Given the description of an element on the screen output the (x, y) to click on. 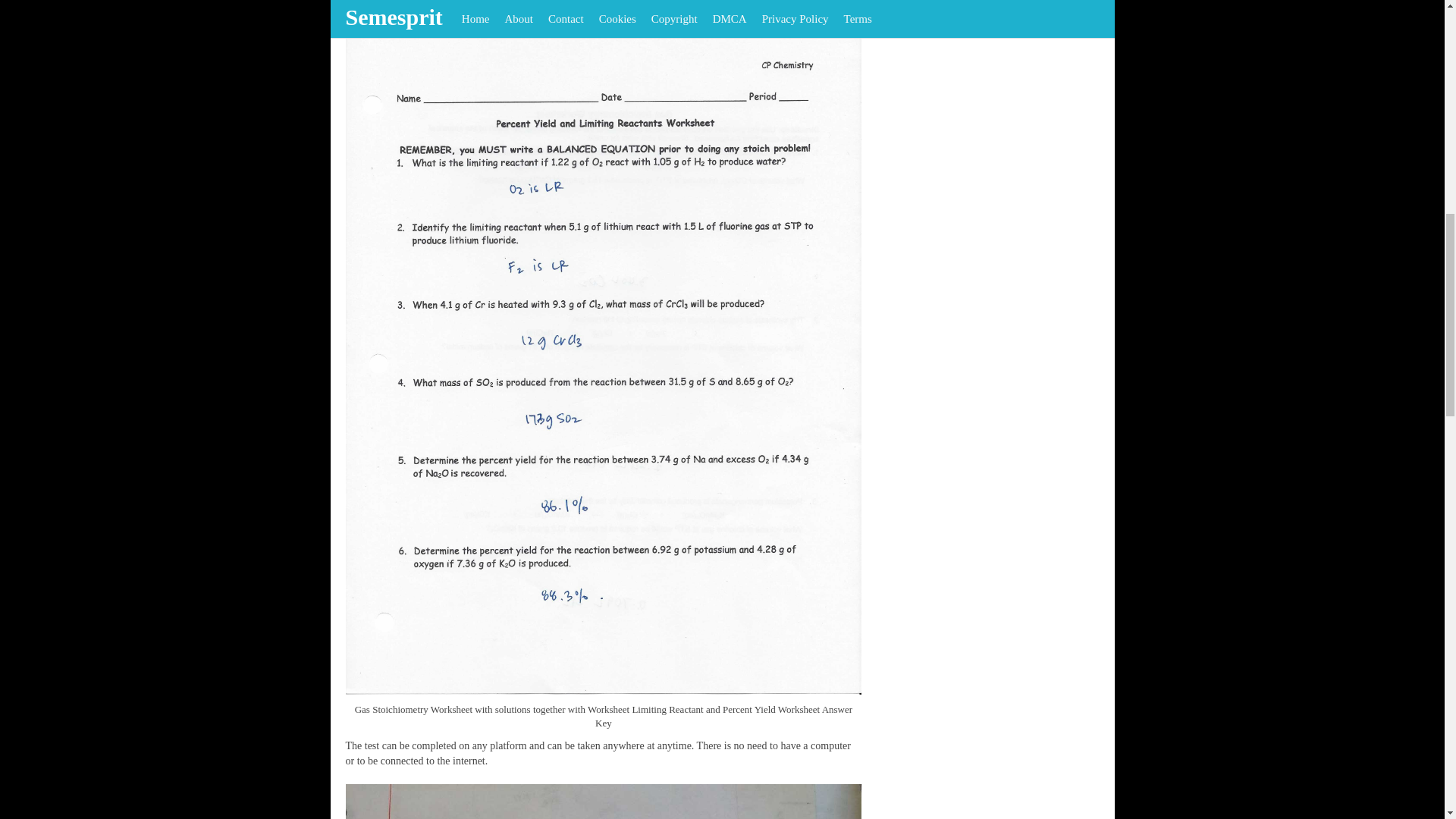
Gas Stoichiometry Worksheet with Solutions 3 (603, 801)
